Given the description of an element on the screen output the (x, y) to click on. 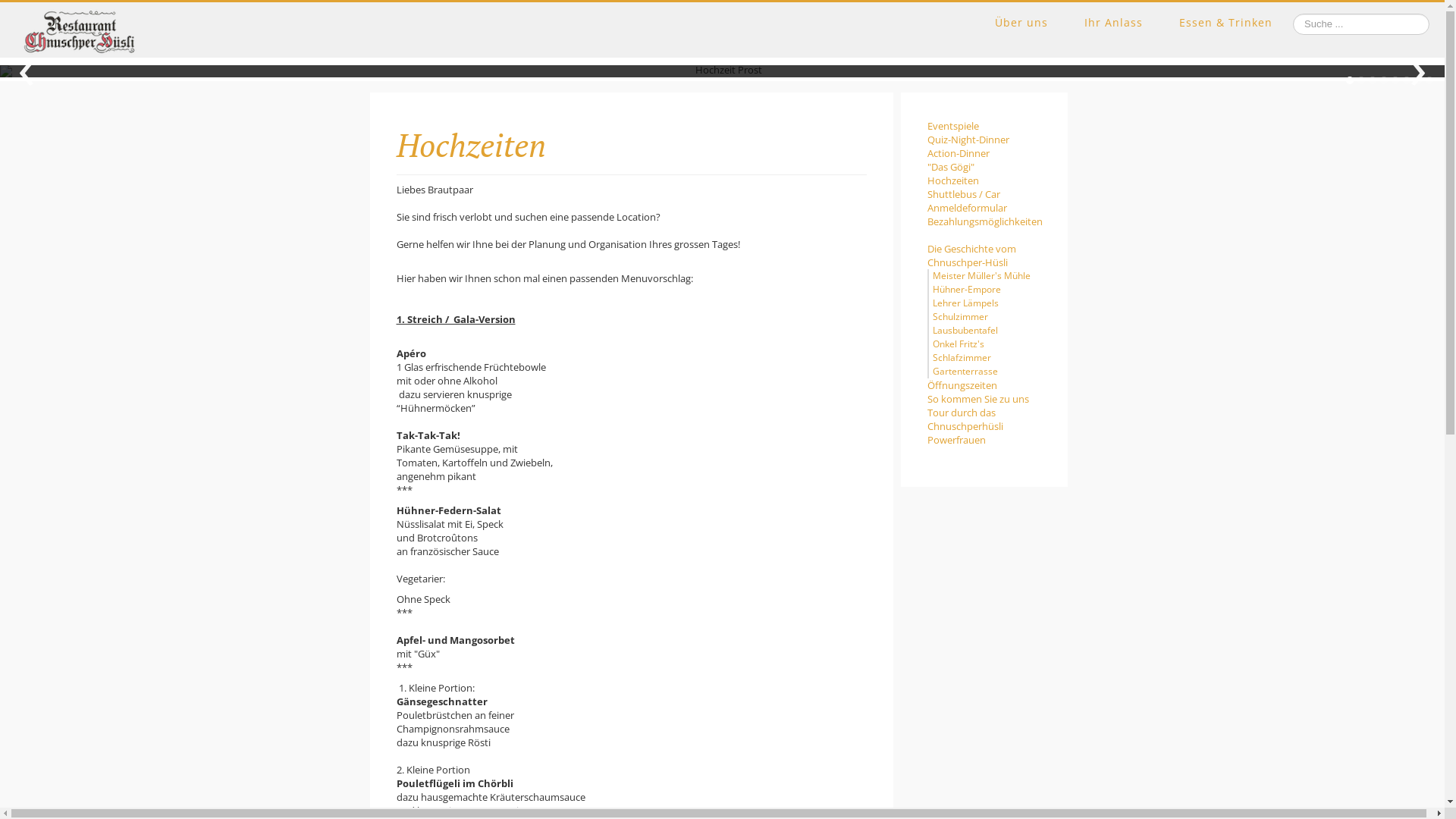
Shuttlebus / Car Element type: text (983, 193)
So kommen Sie zu uns Element type: text (983, 398)
Eventspiele Element type: text (983, 125)
Anmeldeformular Element type: text (983, 207)
Gartenterrasse Element type: text (964, 370)
Lausbubentafel Element type: text (964, 329)
Ihr Anlass Element type: text (1113, 22)
Powerfrauen Element type: text (983, 439)
Onkel Fritz's Schlafzimmer Element type: text (961, 350)
Essen & Trinken Element type: text (1225, 22)
Action-Dinner Element type: text (983, 153)
Quiz-Night-Dinner Element type: text (983, 139)
Hochzeiten Element type: text (983, 180)
